Given the description of an element on the screen output the (x, y) to click on. 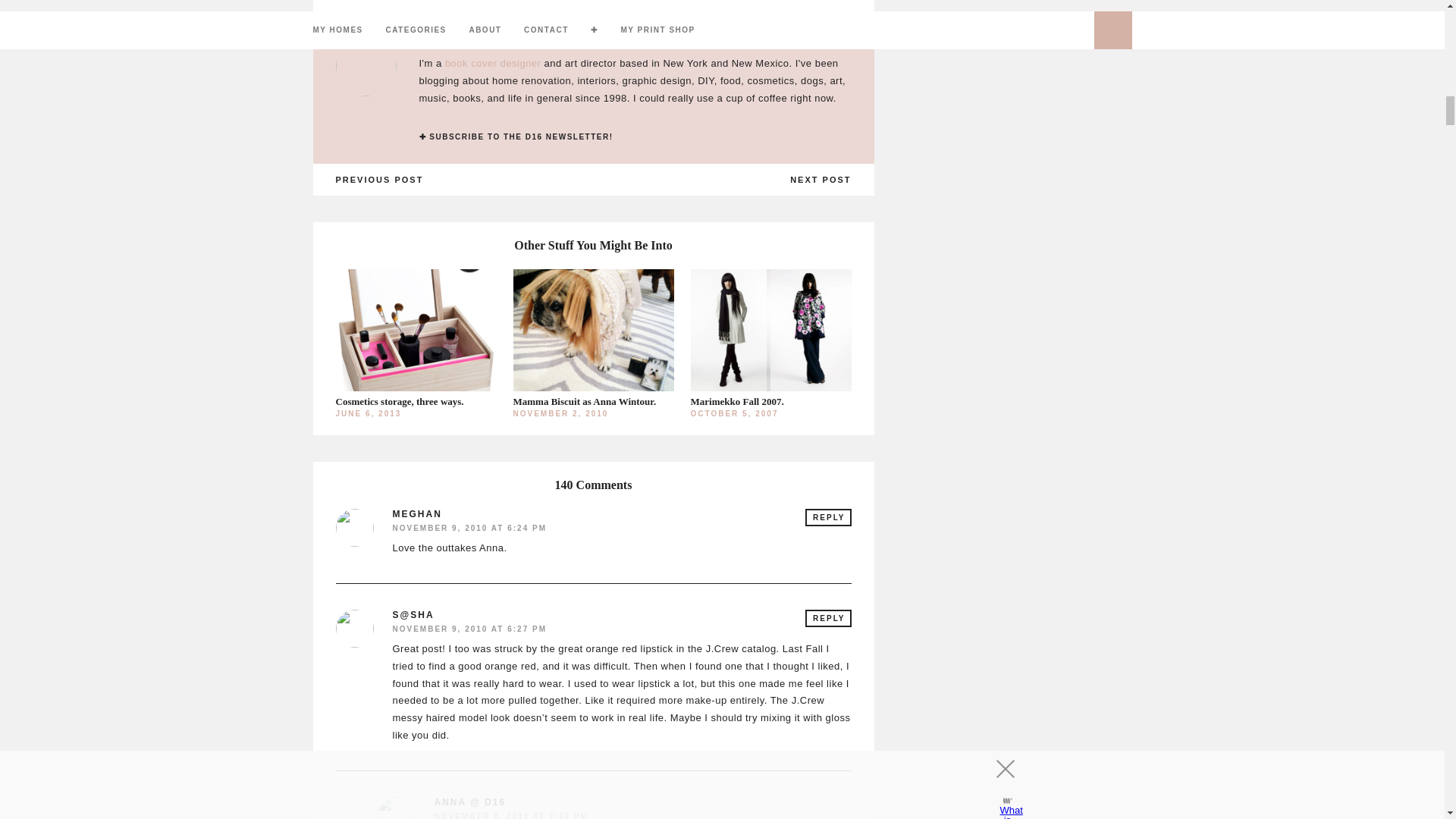
Posts by Anna Dorfman (634, 42)
